Given the description of an element on the screen output the (x, y) to click on. 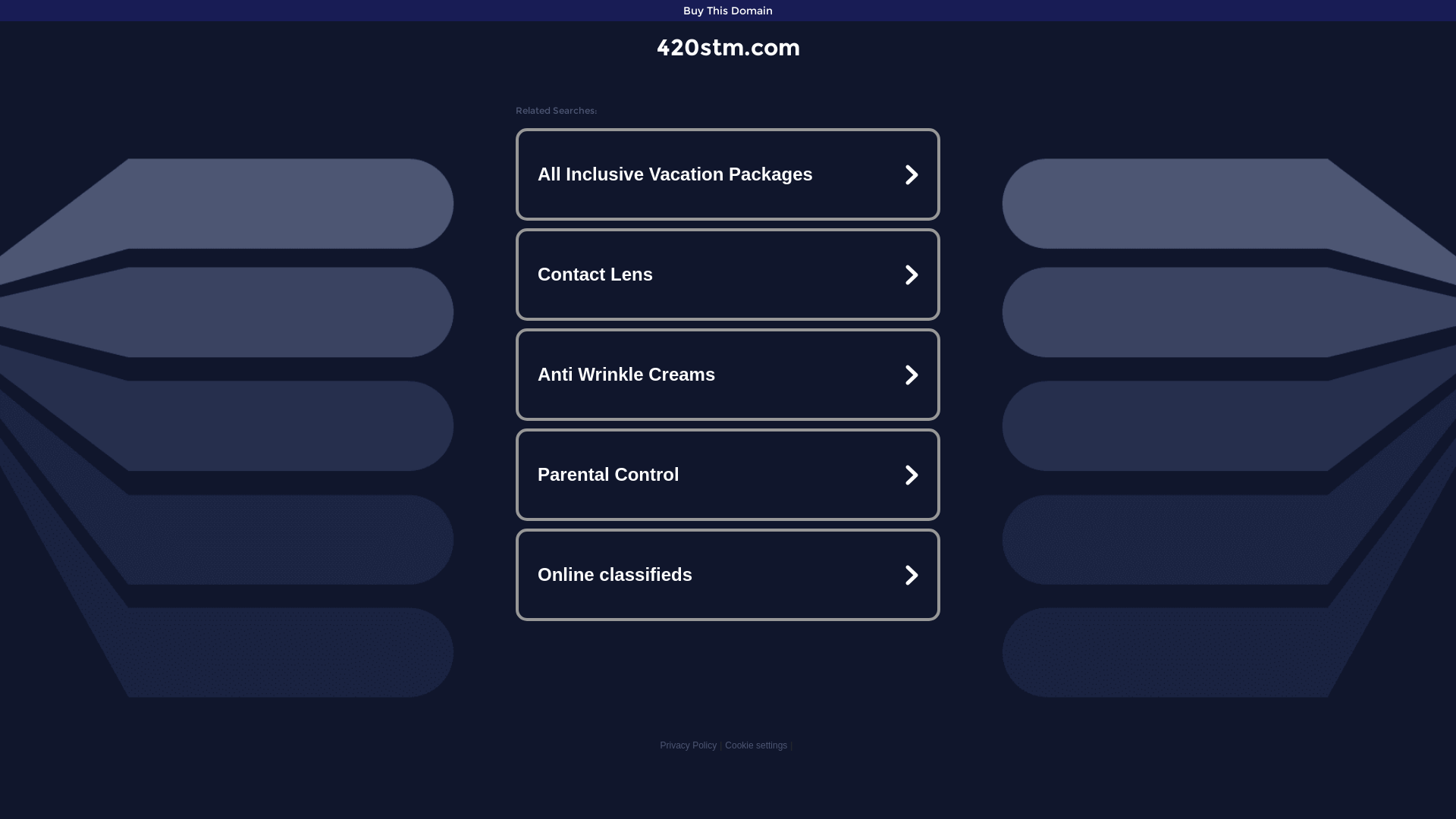
420stm.com Element type: text (728, 47)
All Inclusive Vacation Packages Element type: text (727, 174)
Cookie settings Element type: text (755, 745)
Online classifieds Element type: text (727, 574)
Buy This Domain Element type: text (727, 10)
Contact Lens Element type: text (727, 274)
Anti Wrinkle Creams Element type: text (727, 374)
Parental Control Element type: text (727, 474)
Privacy Policy Element type: text (687, 745)
